Given the description of an element on the screen output the (x, y) to click on. 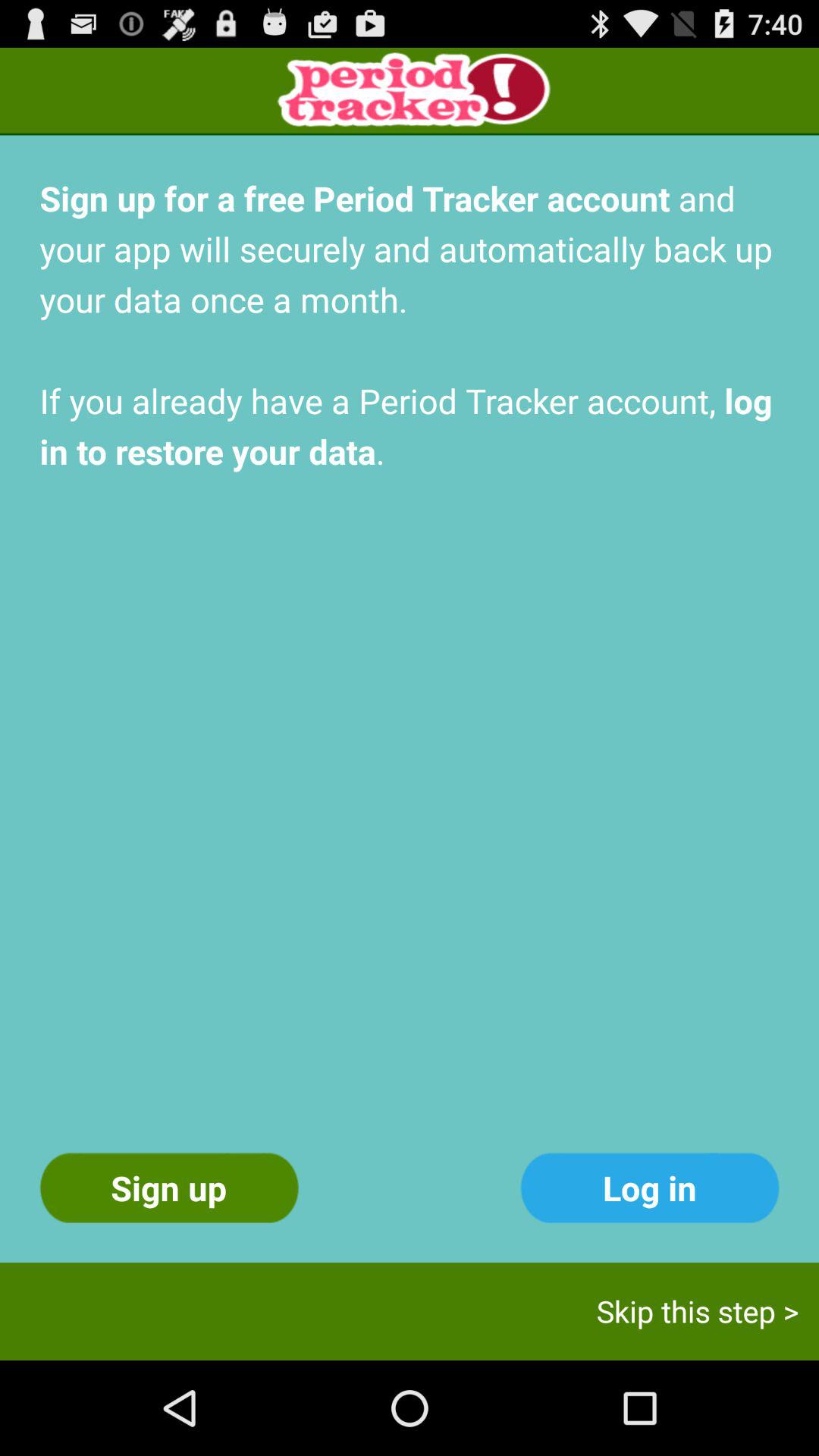
open the icon next to the sign up (649, 1187)
